Given the description of an element on the screen output the (x, y) to click on. 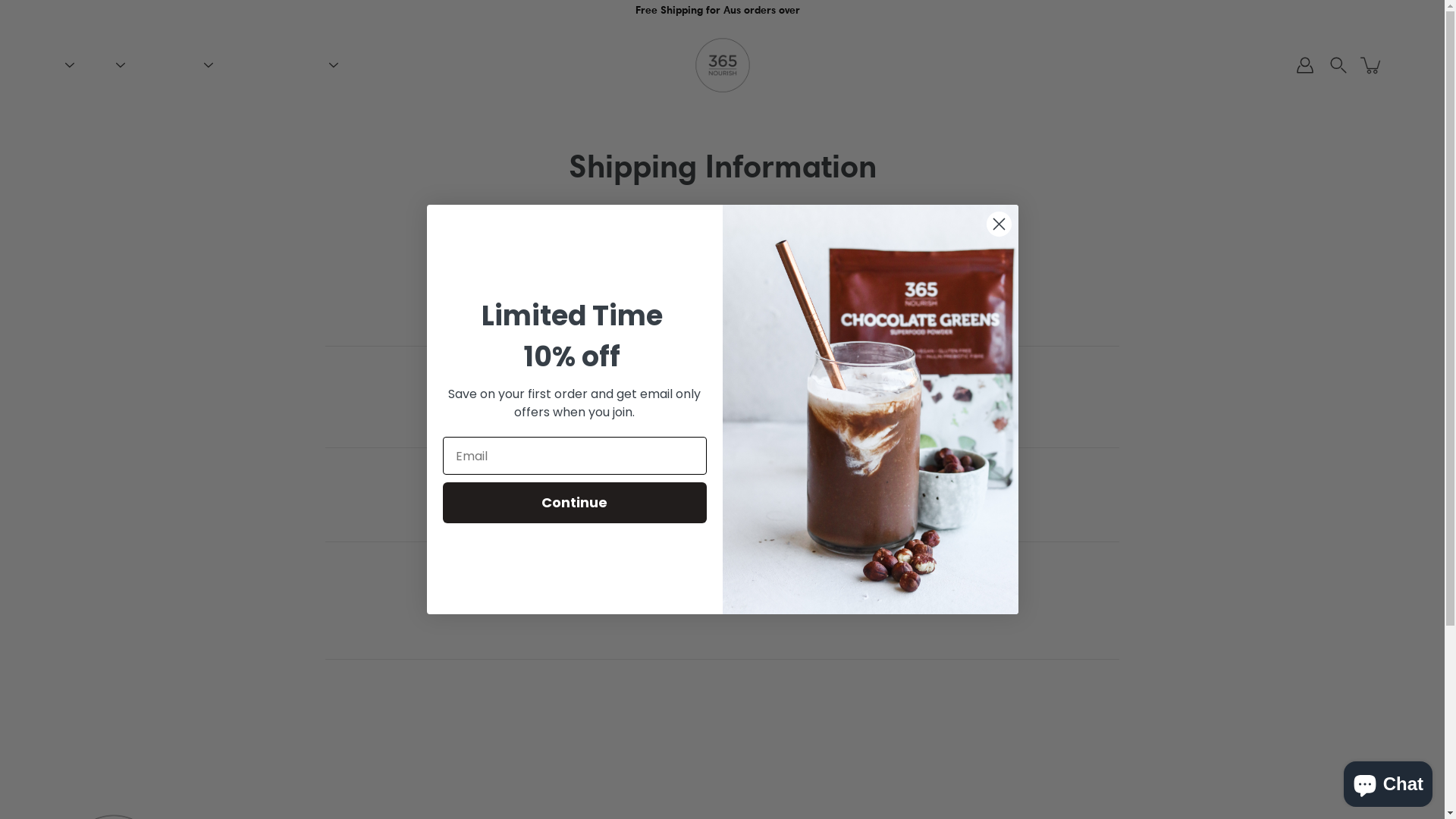
Submit Element type: text (10, 14)
Continue Element type: text (574, 502)
Shopify online store chat Element type: hover (1388, 780)
